Given the description of an element on the screen output the (x, y) to click on. 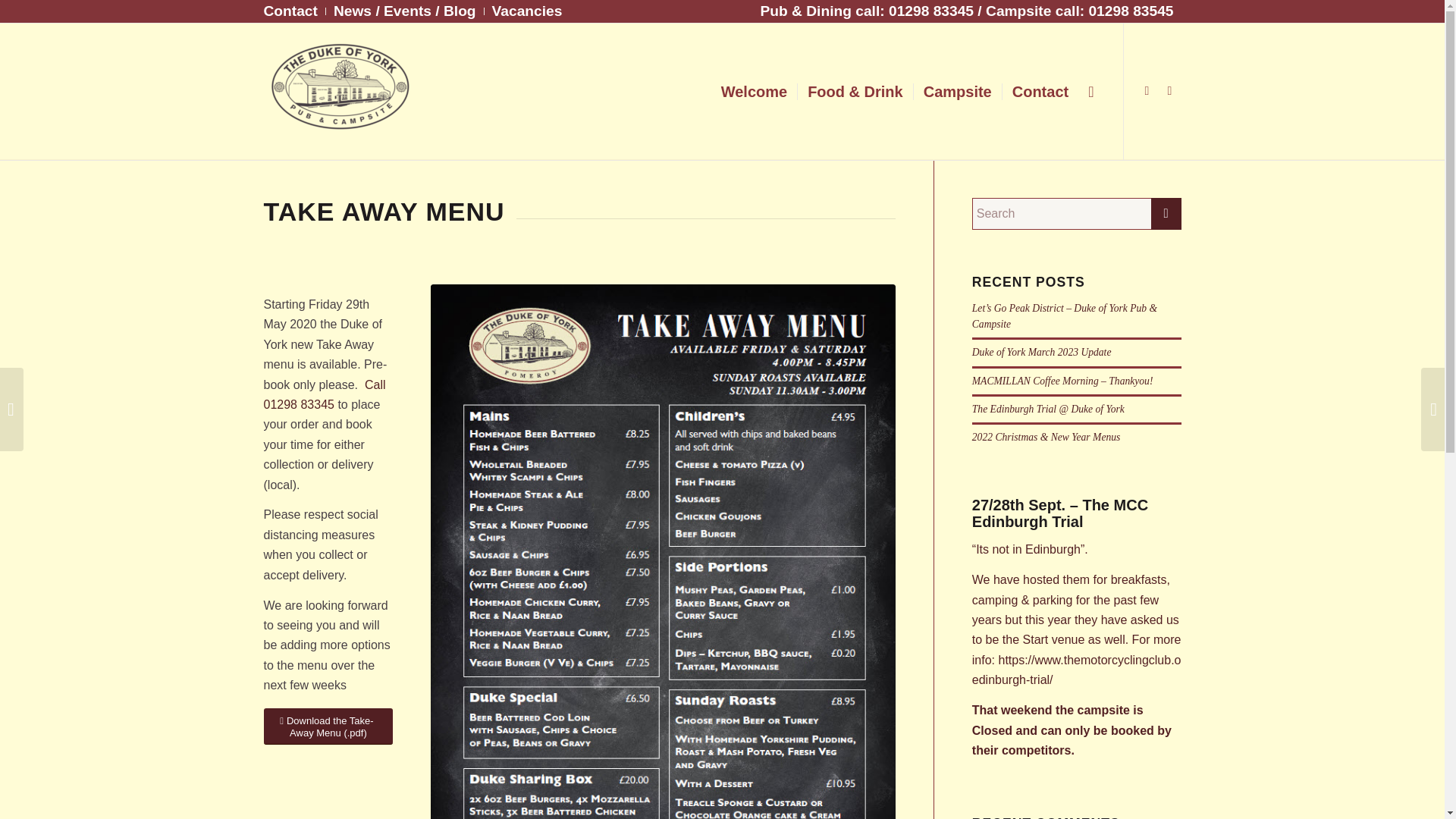
Duke of York Logo 2021mast200 (338, 91)
Duke of York Logo 2021mast200 (338, 85)
Facebook (1146, 90)
Contact (290, 12)
Call 01298 83345 (324, 394)
Vacancies (527, 12)
Click to start search (1165, 214)
Mail (1169, 90)
01298 83545 (1130, 10)
Duke of York March 2023 Update (1042, 351)
